Given the description of an element on the screen output the (x, y) to click on. 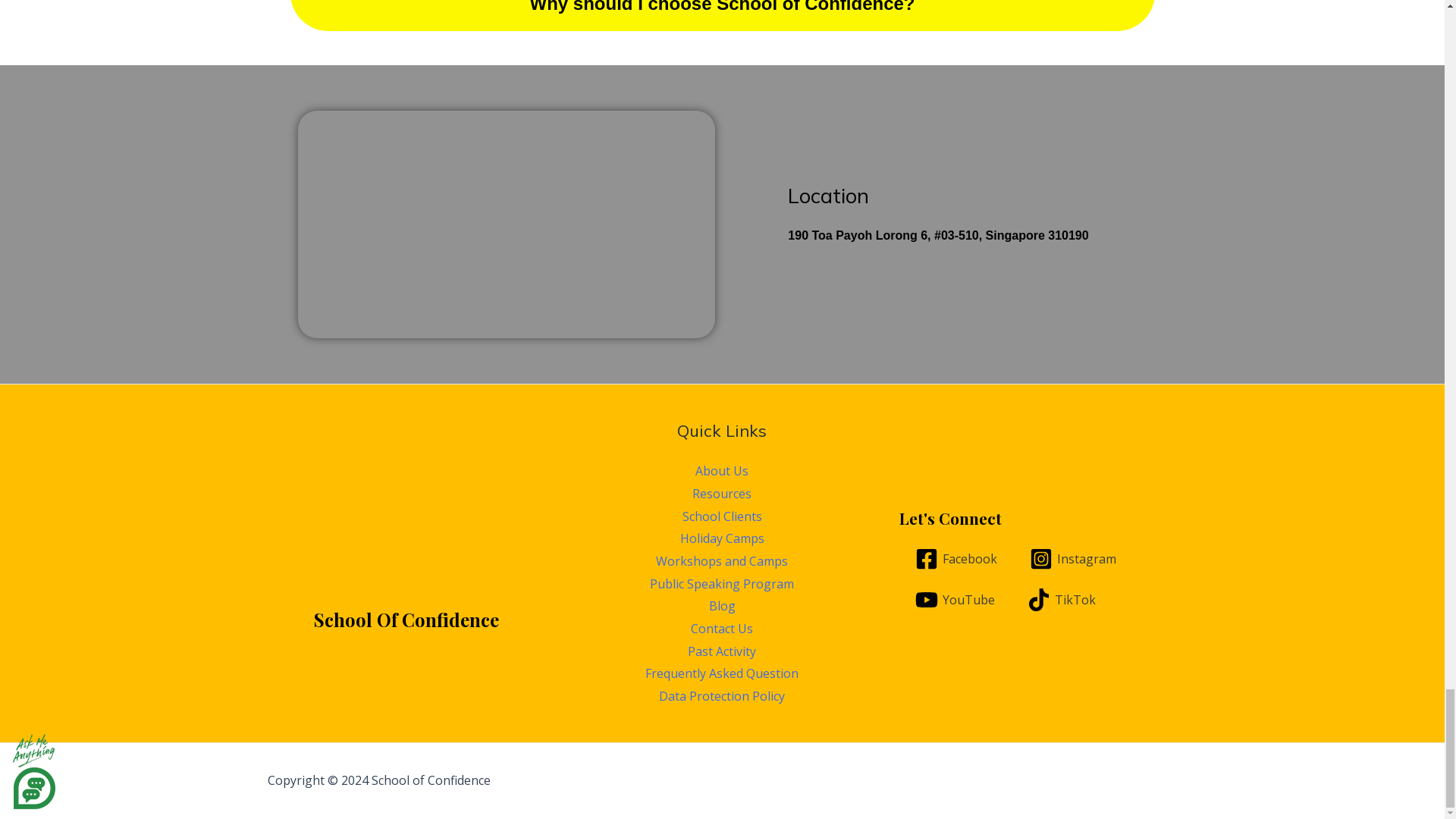
Data Protection Policy (721, 695)
